Given the description of an element on the screen output the (x, y) to click on. 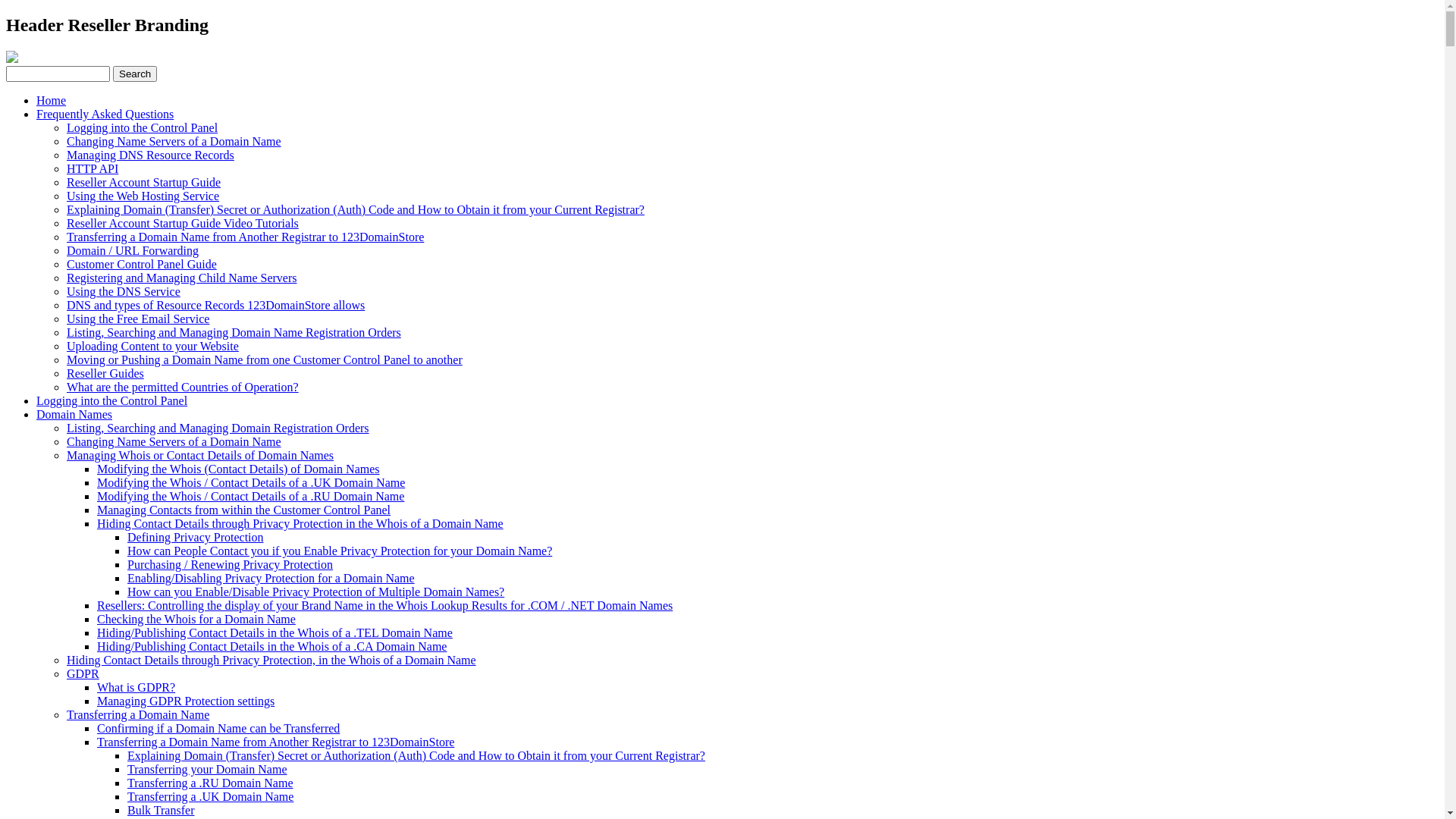
Enter the terms you wish to search for. Element type: hover (57, 73)
Purchasing / Renewing Privacy Protection Element type: text (229, 564)
Transferring a .UK Domain Name Element type: text (210, 796)
Transferring a .RU Domain Name Element type: text (209, 782)
Managing GDPR Protection settings Element type: text (185, 700)
What is GDPR? Element type: text (136, 686)
Reseller Account Startup Guide Video Tutorials Element type: text (182, 222)
Listing, Searching and Managing Domain Registration Orders Element type: text (217, 427)
Managing Contacts from within the Customer Control Panel Element type: text (243, 509)
Bulk Transfer Element type: text (160, 809)
Using the Web Hosting Service Element type: text (142, 195)
Enabling/Disabling Privacy Protection for a Domain Name Element type: text (270, 577)
Domain / URL Forwarding Element type: text (132, 250)
Transferring your Domain Name Element type: text (206, 768)
Search Element type: text (134, 73)
Logging into the Control Panel Element type: text (111, 400)
HTTP API Element type: text (92, 168)
Frequently Asked Questions Element type: text (104, 113)
GDPR Element type: text (82, 673)
What are the permitted Countries of Operation? Element type: text (182, 386)
DNS and types of Resource Records 123DomainStore allows Element type: text (215, 304)
Reseller Guides Element type: text (105, 373)
Changing Name Servers of a Domain Name Element type: text (173, 140)
Modifying the Whois / Contact Details of a .UK Domain Name Element type: text (250, 482)
Modifying the Whois (Contact Details) of Domain Names Element type: text (238, 468)
Customer Control Panel Guide Element type: text (141, 263)
Uploading Content to your Website Element type: text (152, 345)
Using the Free Email Service Element type: text (137, 318)
Registering and Managing Child Name Servers Element type: text (181, 277)
Reseller Account Startup Guide Element type: text (143, 181)
Checking the Whois for a Domain Name Element type: text (196, 618)
Using the DNS Service Element type: text (123, 291)
Managing Whois or Contact Details of Domain Names Element type: text (199, 454)
Domain Names Element type: text (74, 413)
Logging into the Control Panel Element type: text (141, 127)
Home Element type: text (50, 100)
Changing Name Servers of a Domain Name Element type: text (173, 441)
Transferring a Domain Name Element type: text (137, 714)
Skip to main content Element type: text (6, 15)
Defining Privacy Protection Element type: text (195, 536)
Confirming if a Domain Name can be Transferred Element type: text (218, 727)
Modifying the Whois / Contact Details of a .RU Domain Name Element type: text (250, 495)
Managing DNS Resource Records Element type: text (150, 154)
